Given the description of an element on the screen output the (x, y) to click on. 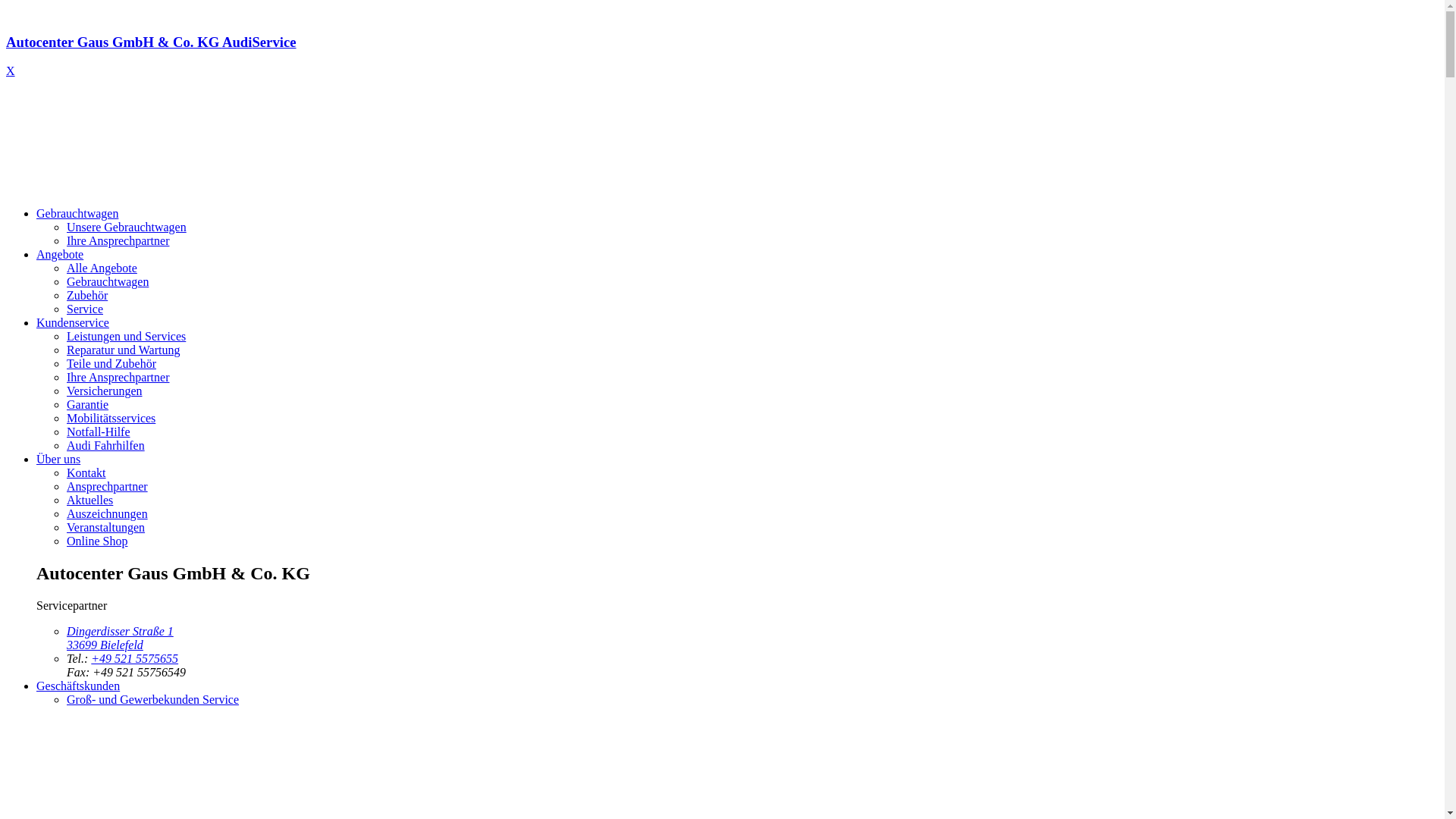
Garantie Element type: text (87, 404)
Kundenservice Element type: text (72, 322)
Ansprechpartner Element type: text (106, 486)
Aktuelles Element type: text (89, 499)
Gebrauchtwagen Element type: text (107, 281)
Gebrauchtwagen Element type: text (77, 213)
Service Element type: text (84, 308)
Veranstaltungen Element type: text (105, 526)
Ihre Ansprechpartner Element type: text (117, 376)
Angebote Element type: text (59, 253)
Audi Fahrhilfen Element type: text (105, 445)
Versicherungen Element type: text (104, 390)
Alle Angebote Element type: text (101, 267)
Online Shop Element type: text (96, 540)
Autocenter Gaus GmbH & Co. KG AudiService Element type: text (722, 56)
Leistungen und Services Element type: text (125, 335)
Auszeichnungen Element type: text (106, 513)
Reparatur und Wartung Element type: text (122, 349)
Kontakt Element type: text (86, 472)
Notfall-Hilfe Element type: text (98, 431)
Unsere Gebrauchtwagen Element type: text (126, 226)
+49 521 5575655 Element type: text (134, 658)
Ihre Ansprechpartner Element type: text (117, 240)
X Element type: text (10, 70)
